Given the description of an element on the screen output the (x, y) to click on. 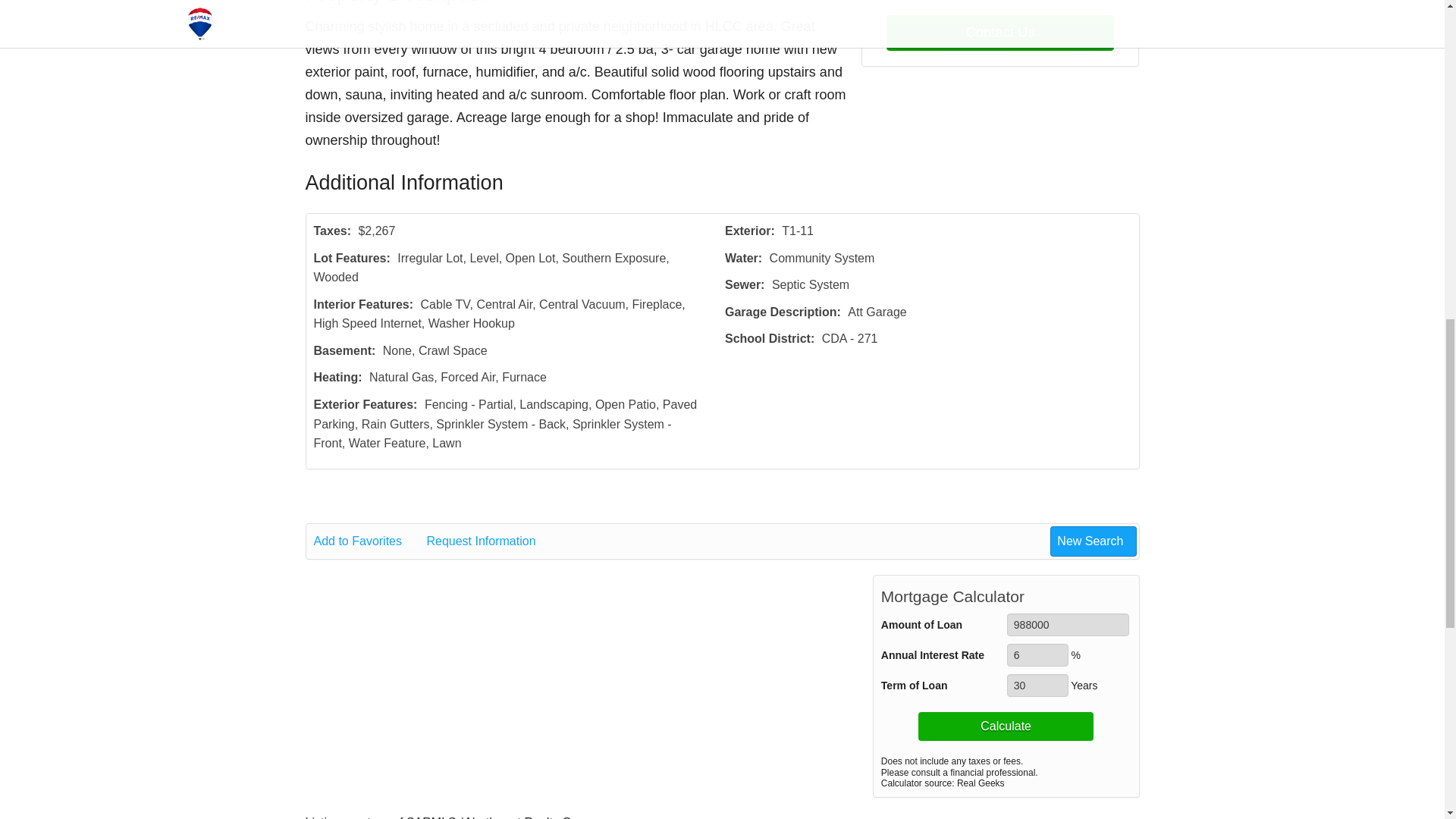
30 (1037, 685)
988000 (1068, 624)
Contact Us (999, 32)
6 (1037, 654)
